Given the description of an element on the screen output the (x, y) to click on. 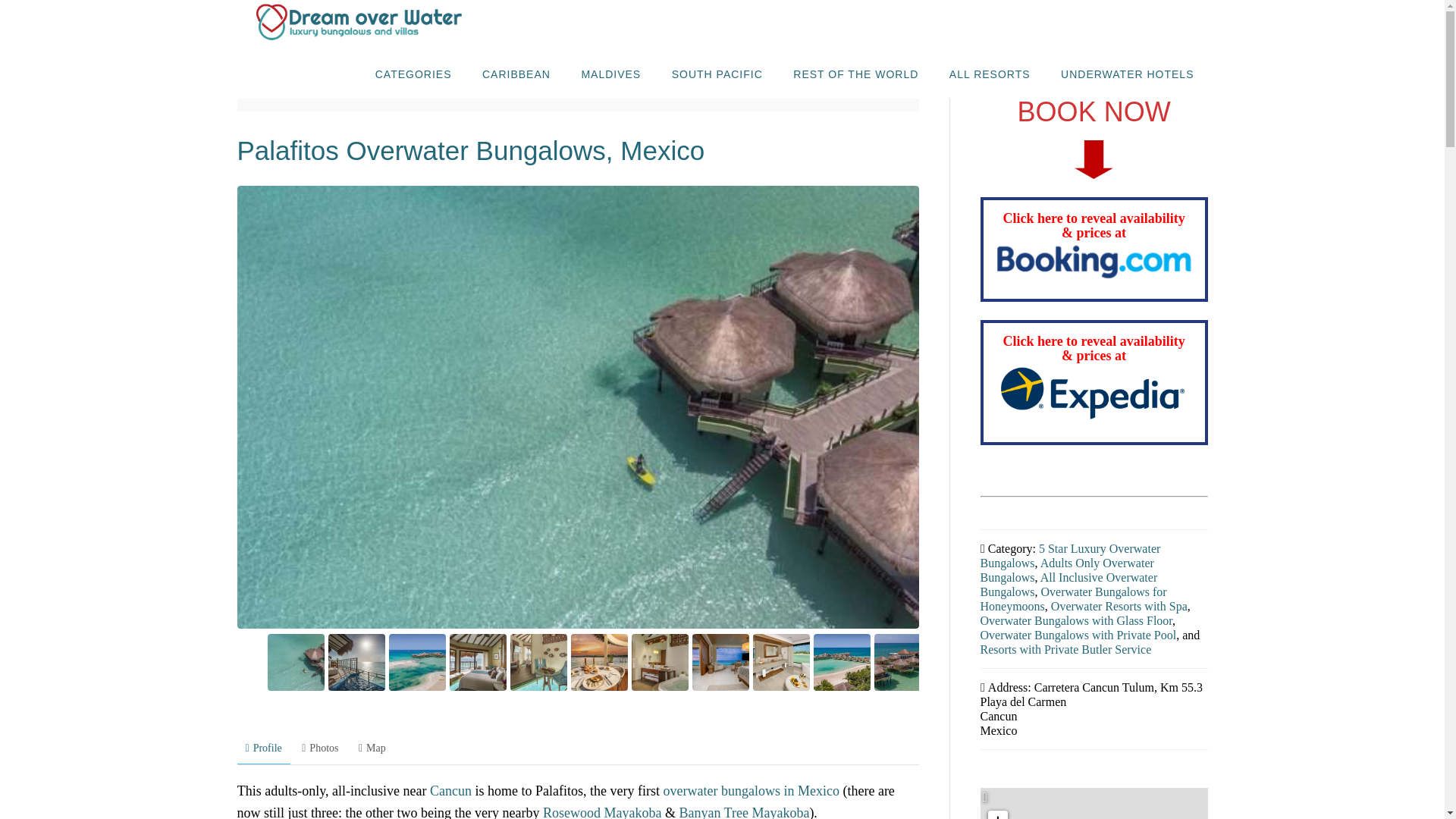
CATEGORIES (413, 73)
Zoom in (997, 814)
MALDIVES (610, 73)
SOUTH PACIFIC (717, 73)
DREAM OVERWATER BUNGALOWS (357, 24)
CARIBBEAN (516, 73)
REST OF THE WORLD (854, 73)
